Given the description of an element on the screen output the (x, y) to click on. 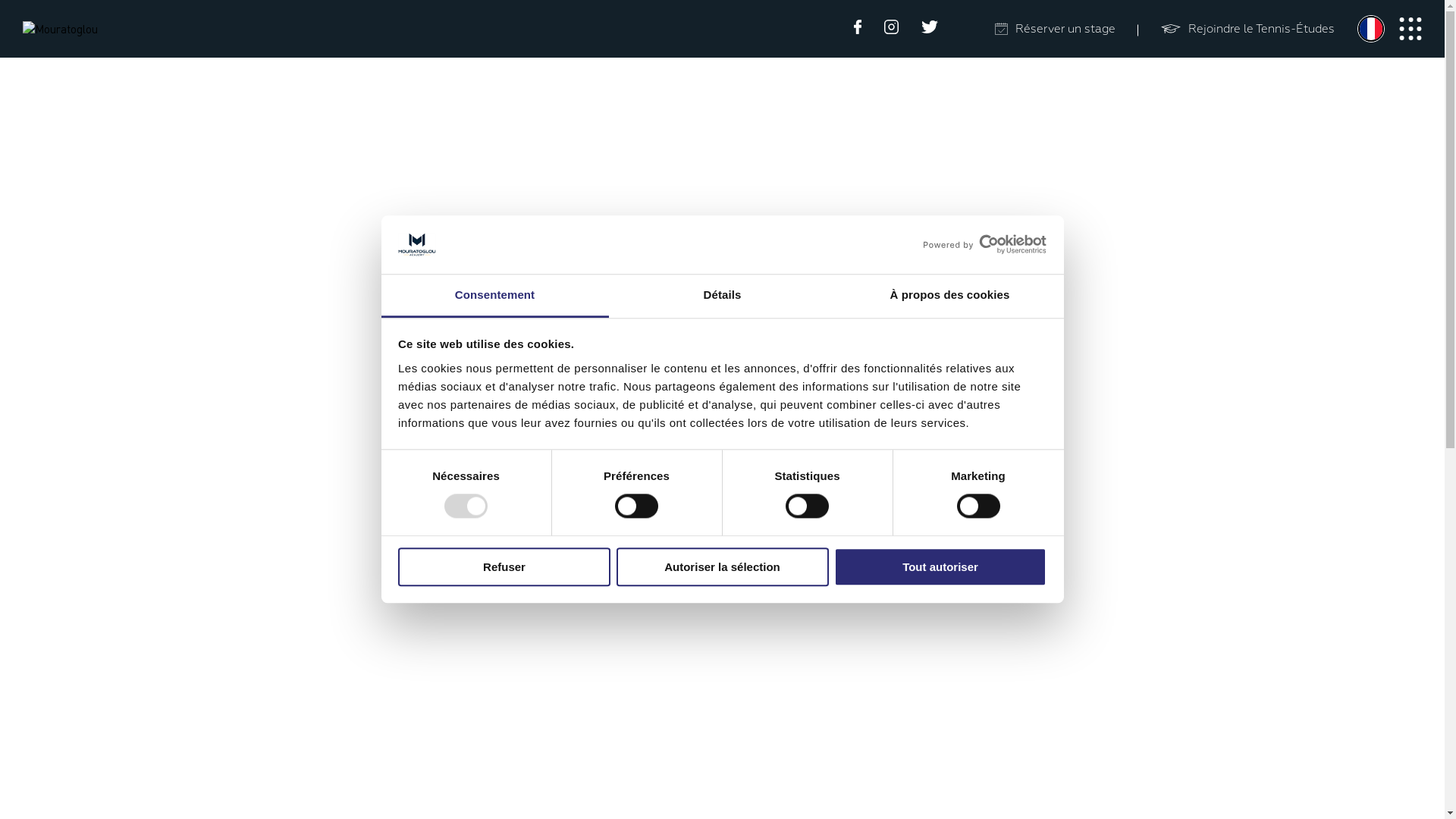
Refuser Element type: text (504, 566)
Instagram - Mouratoglou Tennis Academy Element type: hover (891, 28)
Tout autoriser Element type: text (940, 566)
Consentement Element type: text (494, 295)
Twitter - Mouratoglou Tennis Academy Element type: hover (929, 28)
Facebook - Mouratoglou Tennis Academy Element type: hover (857, 28)
